Given the description of an element on the screen output the (x, y) to click on. 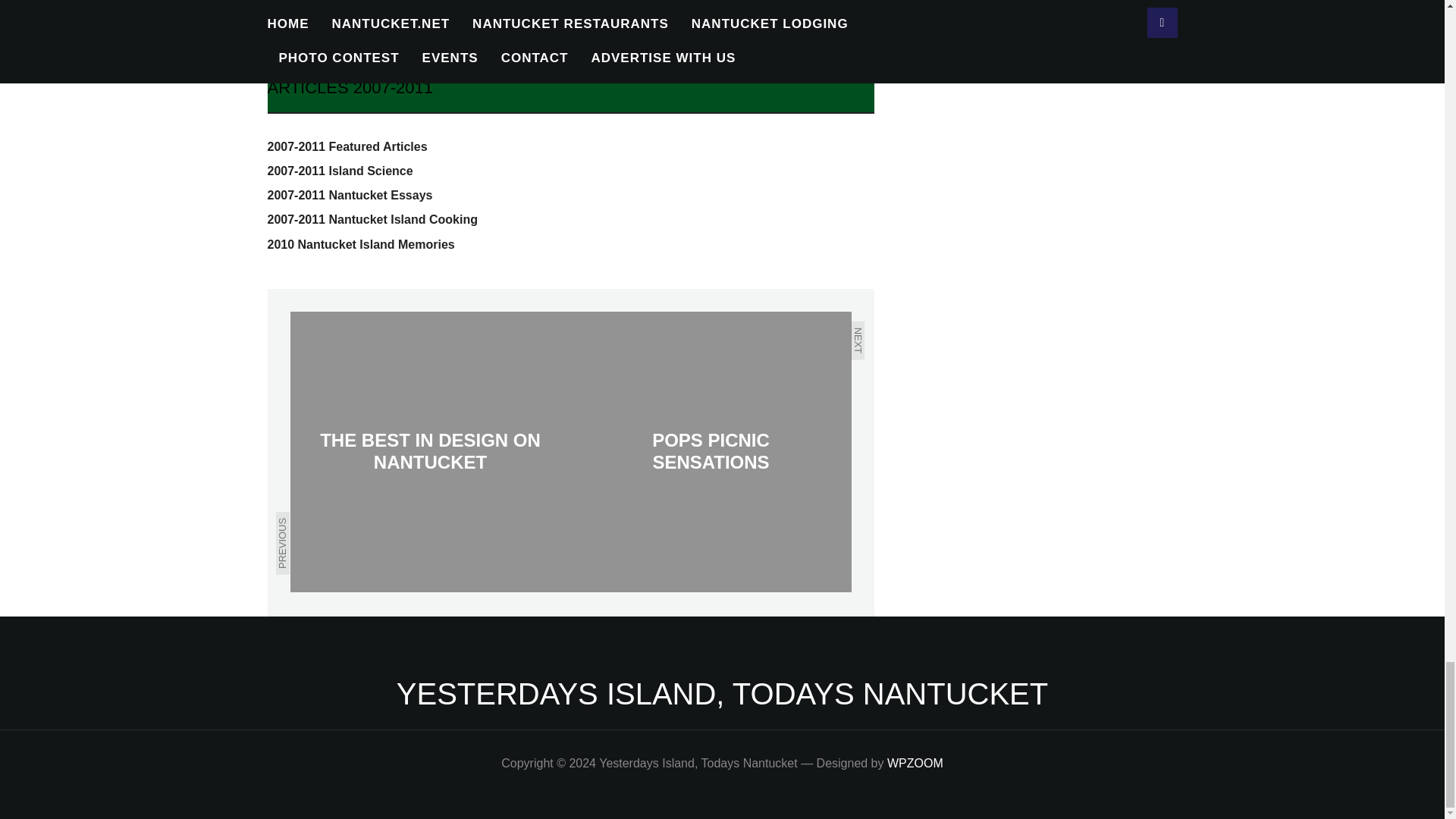
2010 Nantucket Island Memories (360, 244)
Pops Picnic Sensations (710, 452)
2007-2011 Island Science (339, 170)
POPS PICNIC SENSATIONS (710, 452)
News and Events for Nantucket Island (722, 693)
2007-2011 Nantucket Essays (349, 195)
The Best in Design on Nantucket (429, 452)
THE BEST IN DESIGN ON NANTUCKET (429, 452)
2007-2011 Nantucket Island Cooking (371, 219)
2007-2011 Featured Articles (346, 146)
